Given the description of an element on the screen output the (x, y) to click on. 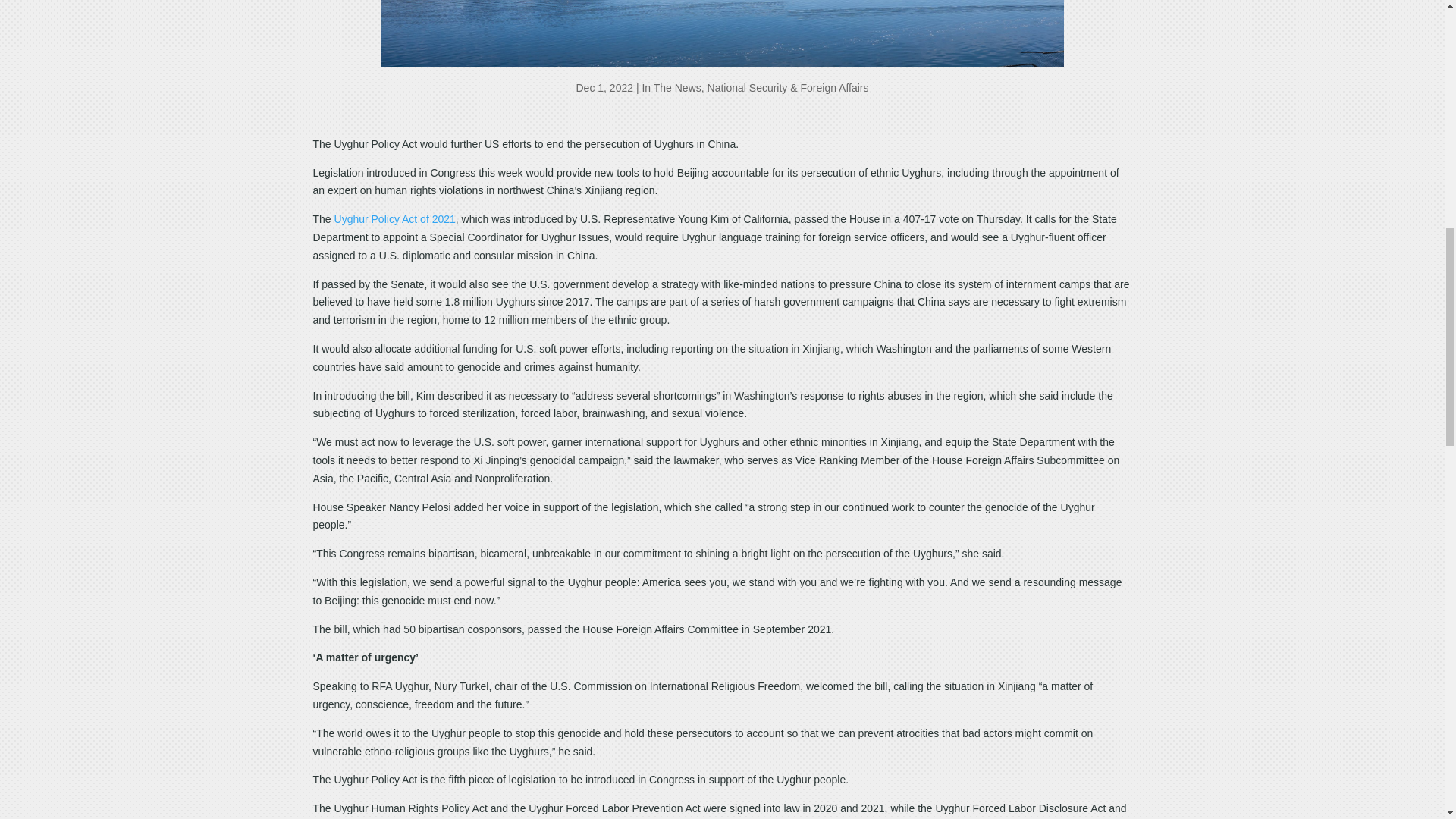
Congressional District (721, 33)
